Given the description of an element on the screen output the (x, y) to click on. 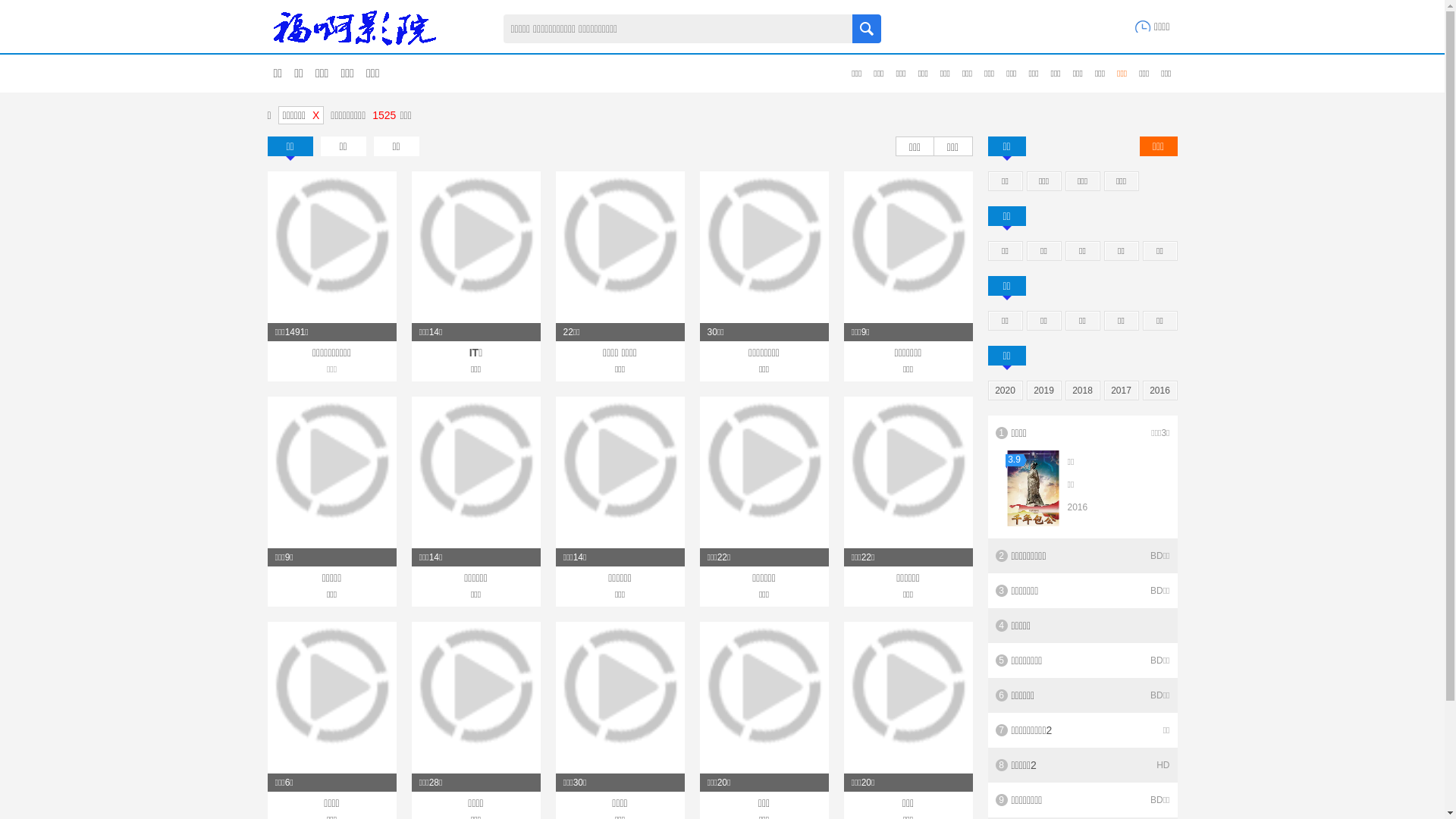
2017 Element type: text (1120, 390)
2016 Element type: text (1159, 390)
2018 Element type: text (1082, 390)
2020 Element type: text (1005, 390)
2019 Element type: text (1043, 390)
